Given the description of an element on the screen output the (x, y) to click on. 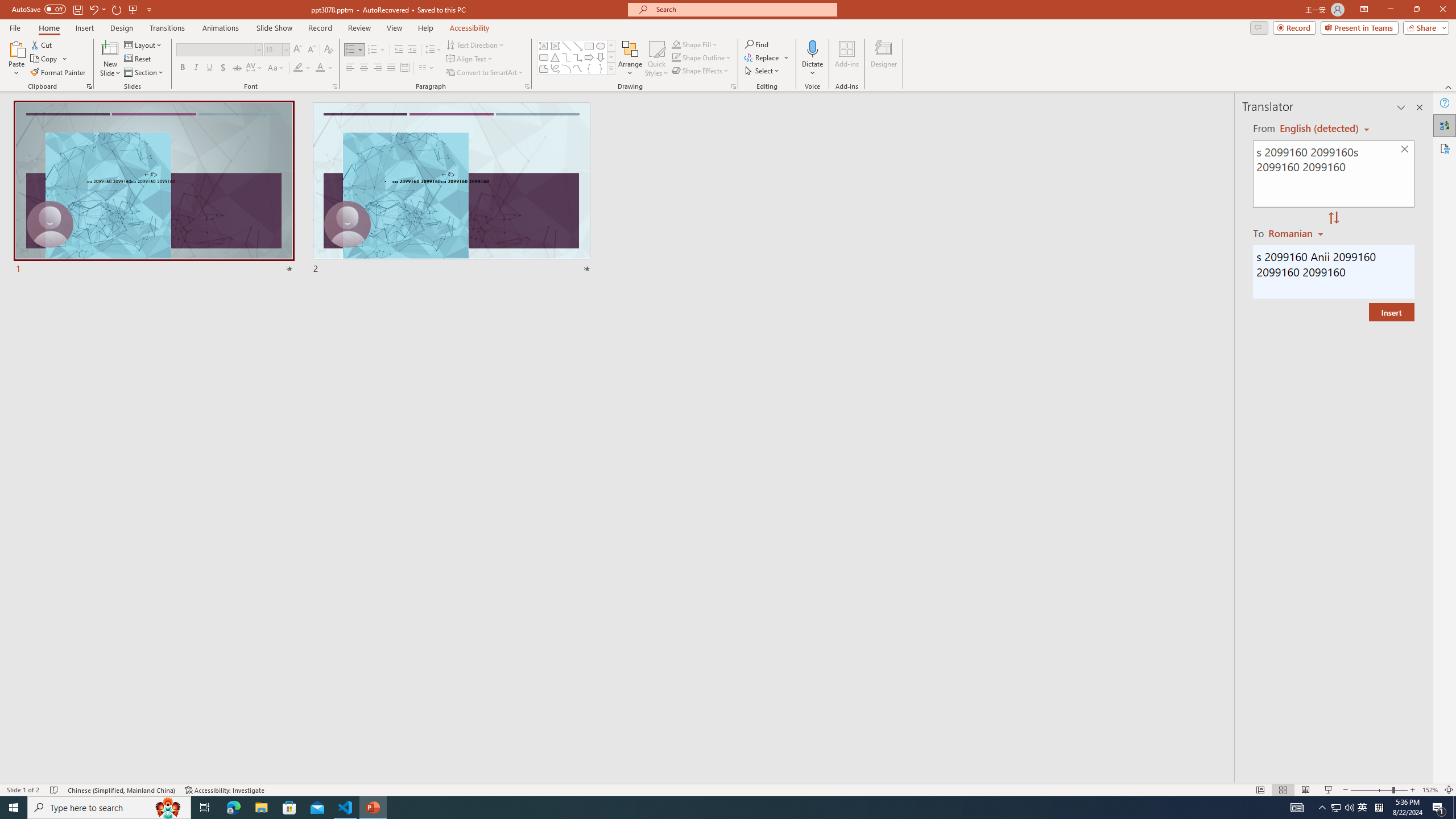
Shape Fill Dark Green, Accent 2 (675, 44)
Shape Outline (701, 56)
